Given the description of an element on the screen output the (x, y) to click on. 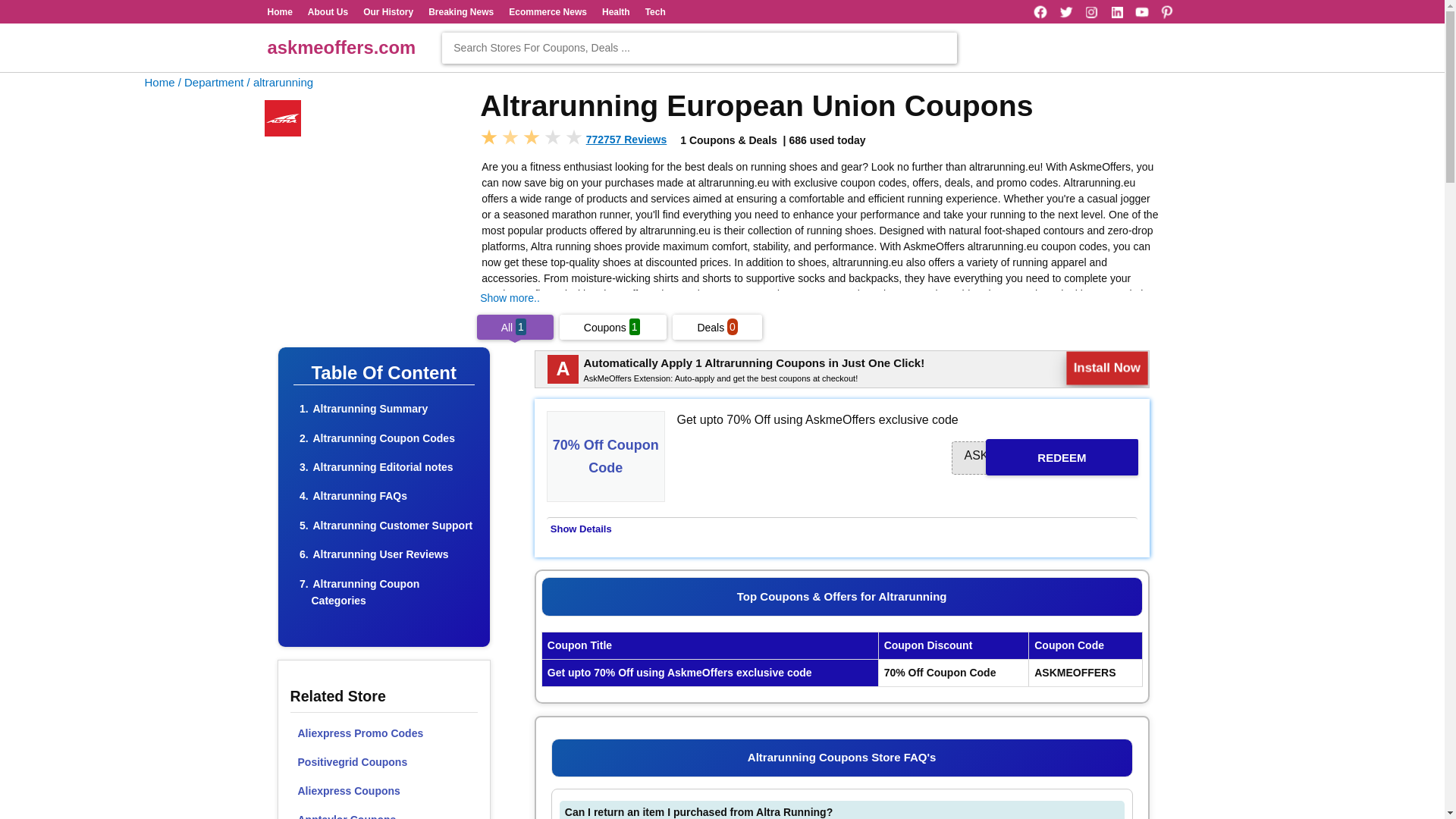
About Us (327, 11)
Tech (655, 11)
Home (279, 11)
Facebook Page (1040, 12)
Install Now (1105, 367)
Tech (655, 11)
Deals 0 (716, 327)
Home (279, 11)
Breaking News (460, 11)
Altrarunning Summary (370, 408)
